Given the description of an element on the screen output the (x, y) to click on. 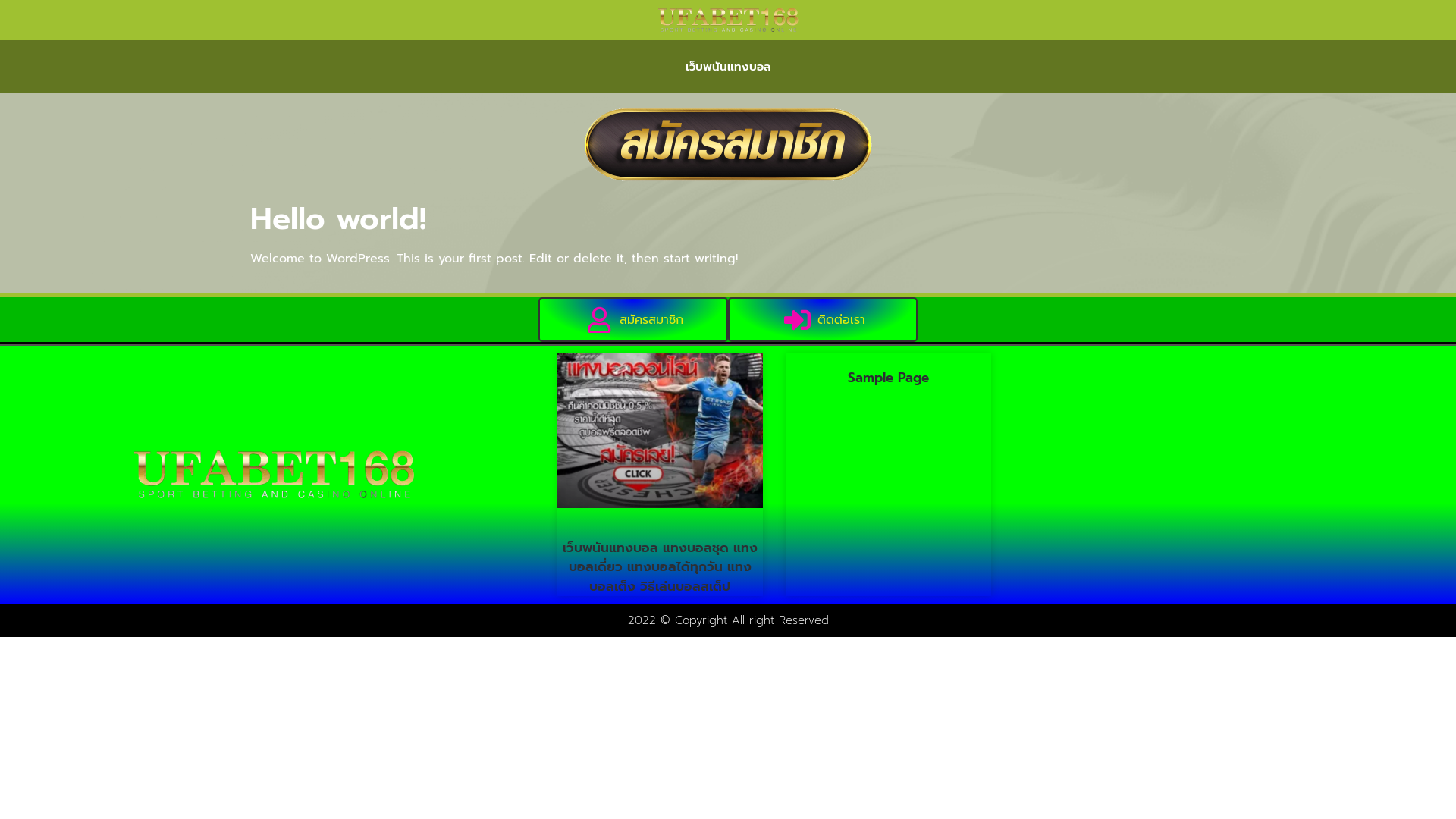
Sample Page Element type: text (887, 377)
